Given the description of an element on the screen output the (x, y) to click on. 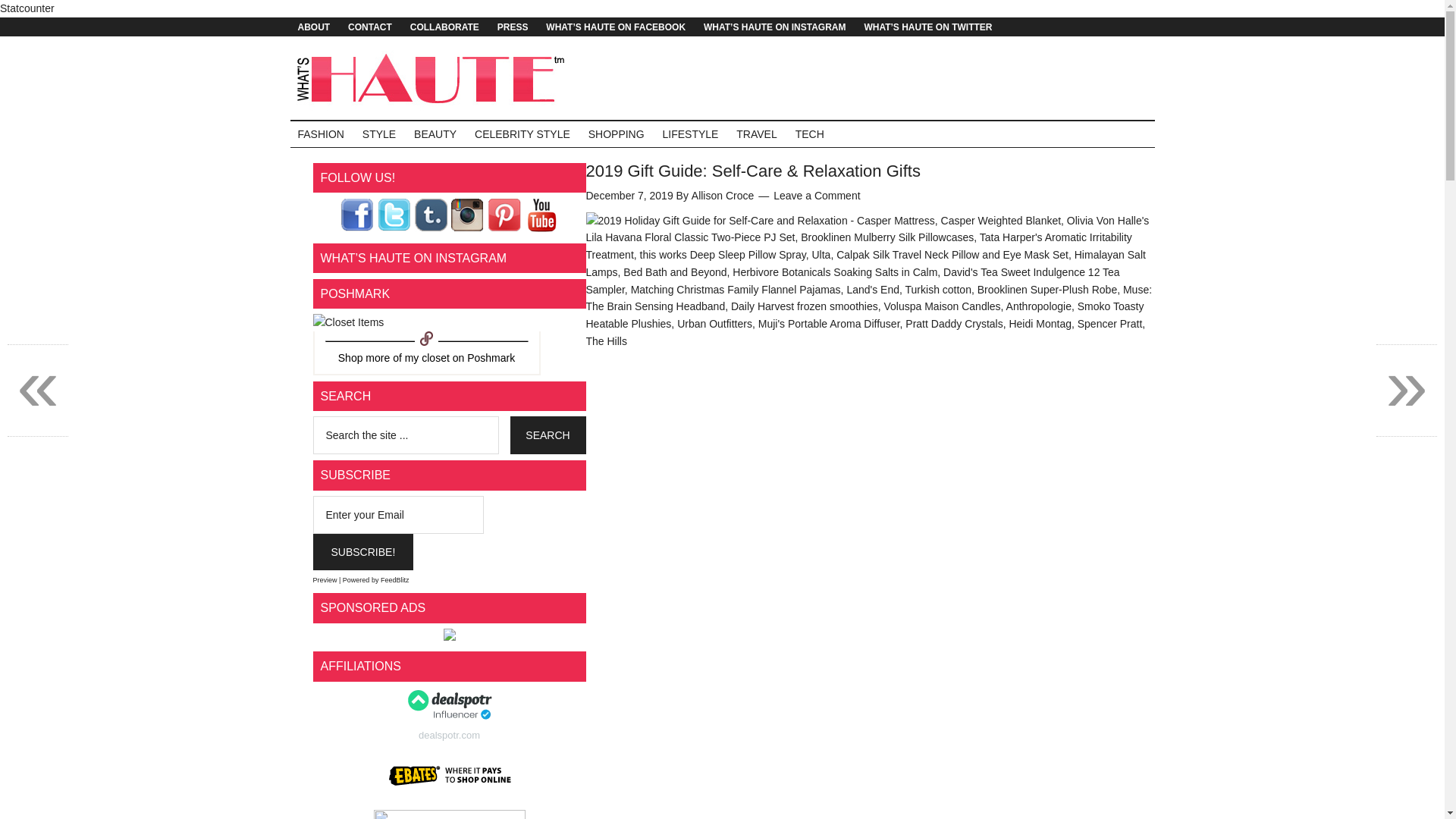
STYLE (379, 134)
CELEBRITY STYLE (522, 134)
Search (547, 435)
Statcounter (27, 8)
BEAUTY (435, 134)
Poshmark (491, 357)
FASHION (319, 134)
COLLABORATE (444, 26)
whatshaute (426, 357)
CONTACT (369, 26)
